Given the description of an element on the screen output the (x, y) to click on. 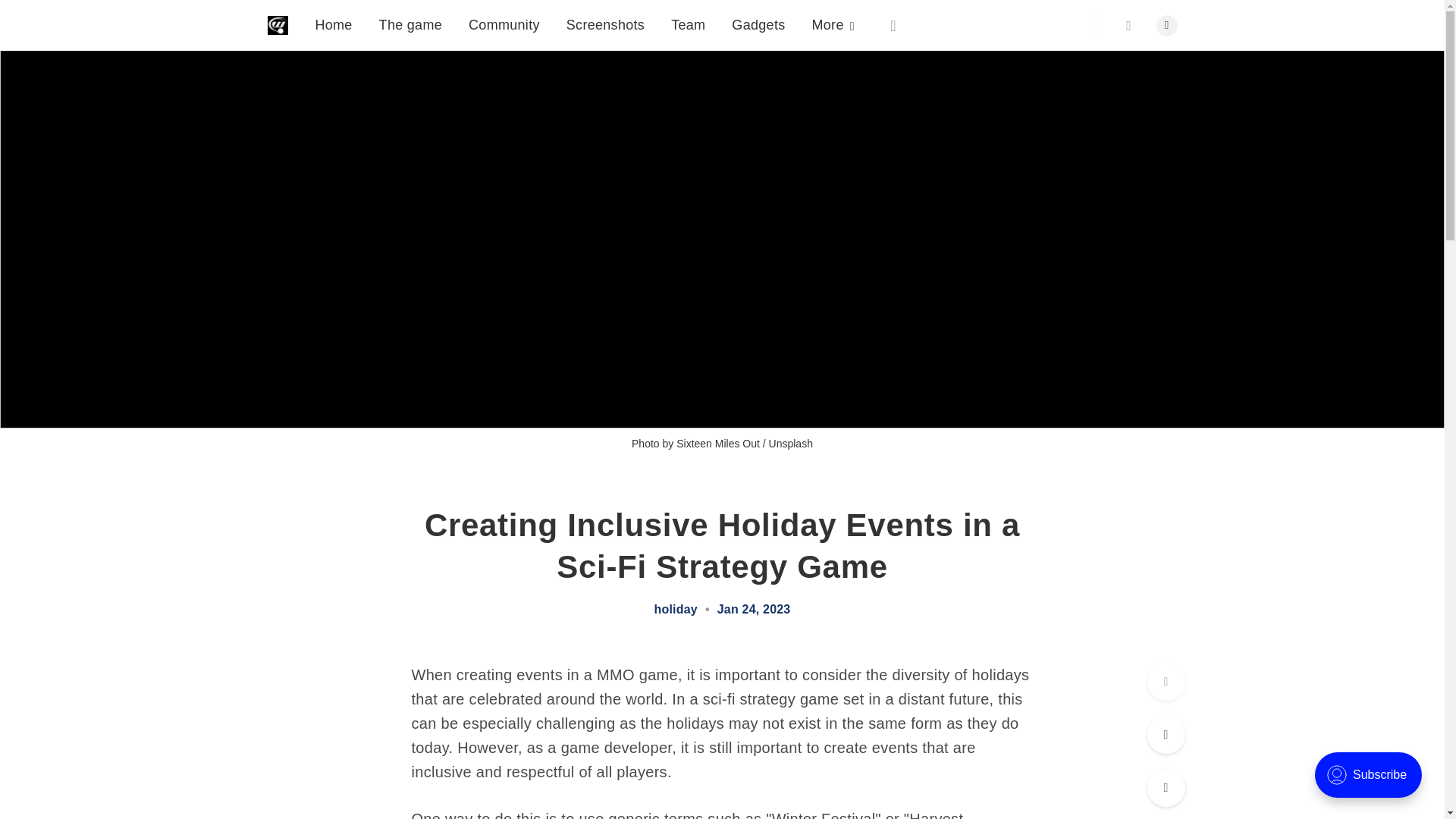
Gadgets (758, 21)
The game (410, 5)
Community (504, 12)
Screenshots (605, 17)
holiday (675, 609)
Team (687, 20)
Sixteen Miles Out (718, 443)
More (833, 23)
Unsplash (790, 443)
